Given the description of an element on the screen output the (x, y) to click on. 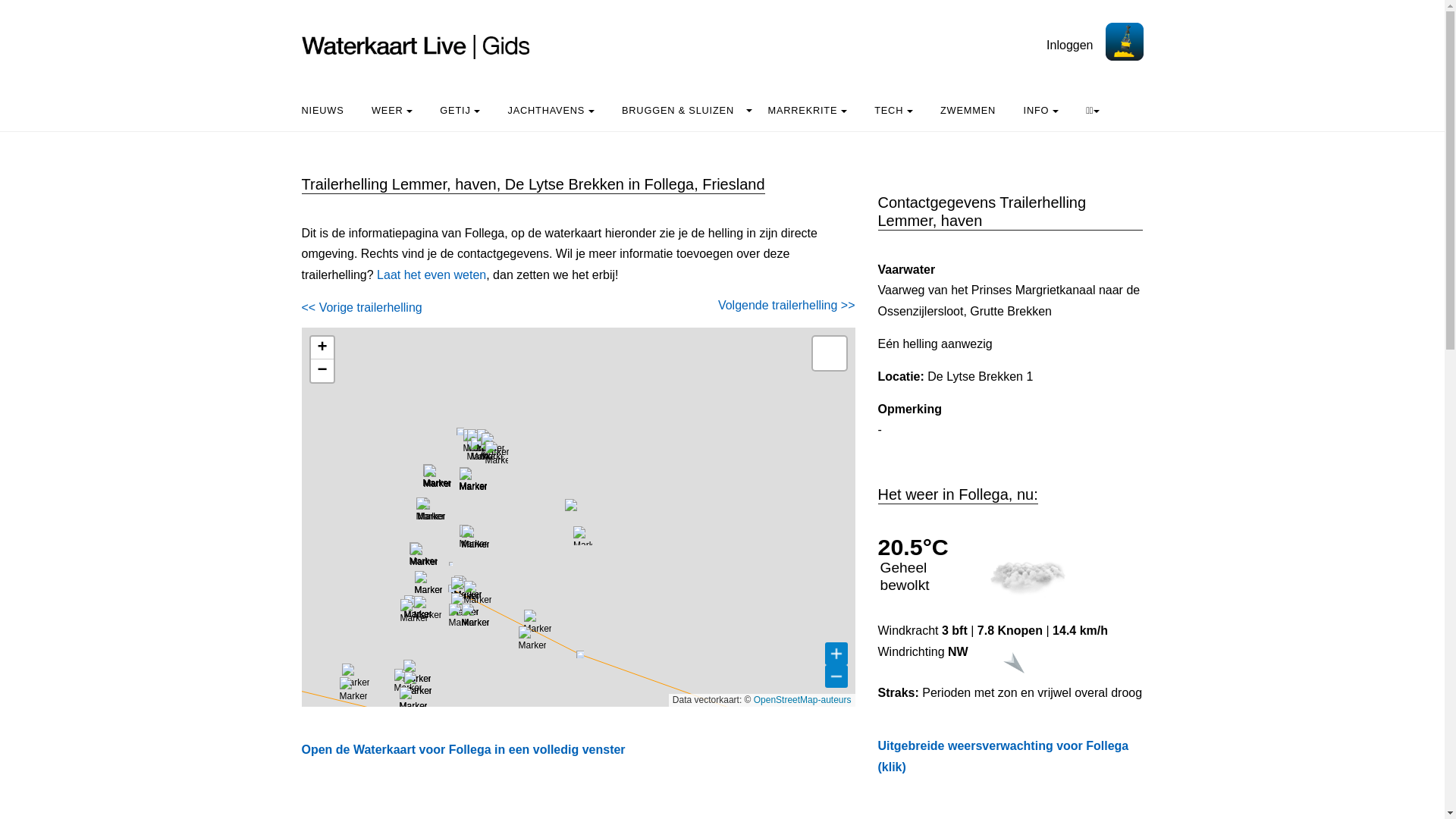
Zoom in (322, 347)
Zoom out (322, 370)
Layers (828, 353)
